Given the description of an element on the screen output the (x, y) to click on. 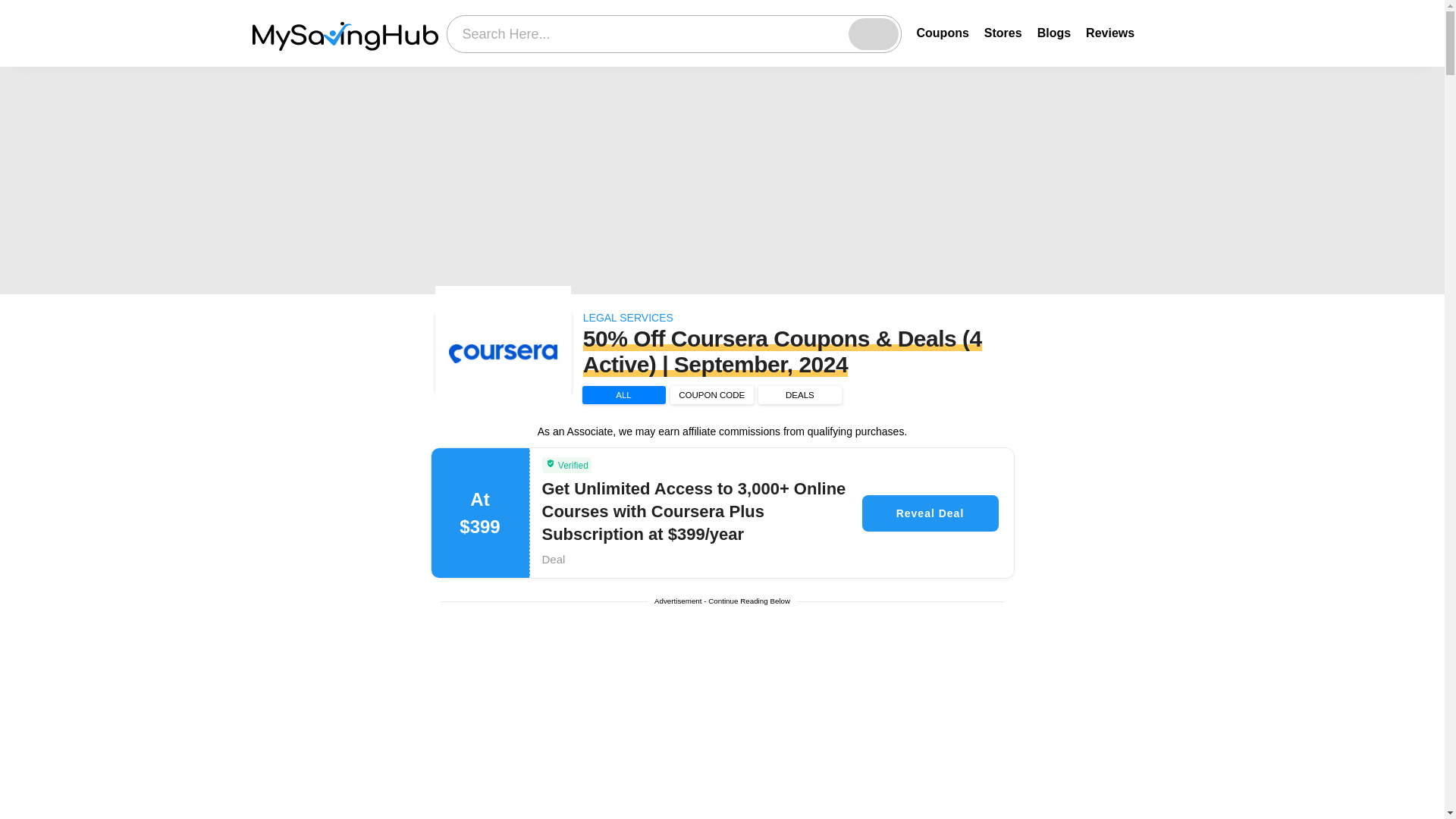
Blogs (1053, 32)
MySavingHub HOME PAGE (344, 33)
LEGAL SERVICES (627, 317)
Coupons (941, 32)
Reveal Deal (929, 513)
Coursera coupon codes, promo codes and voucher (503, 353)
Stores (1003, 32)
Deal (552, 558)
Reviews (1110, 32)
